Given the description of an element on the screen output the (x, y) to click on. 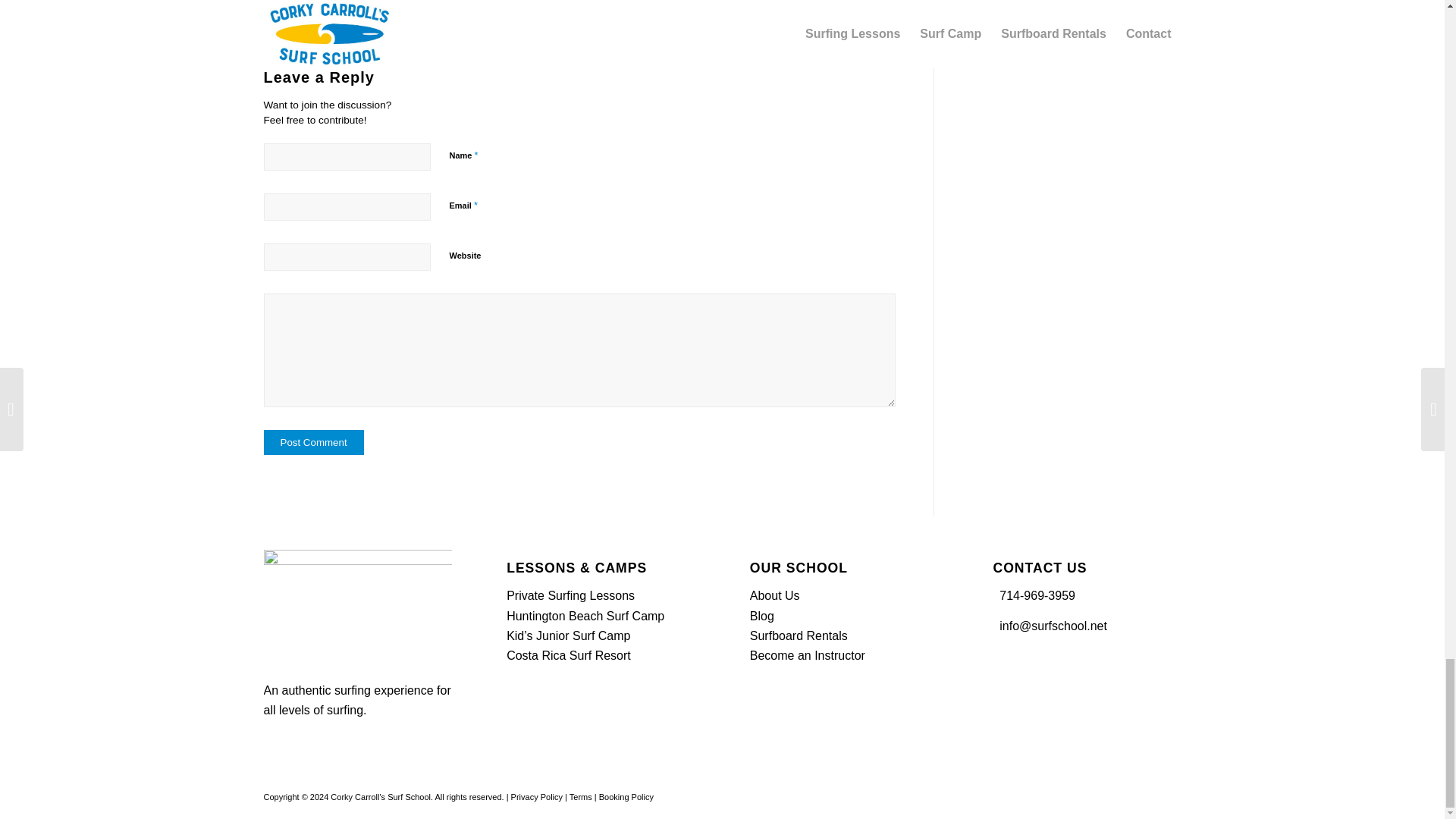
Post Comment (313, 442)
Post Comment (313, 442)
